Given the description of an element on the screen output the (x, y) to click on. 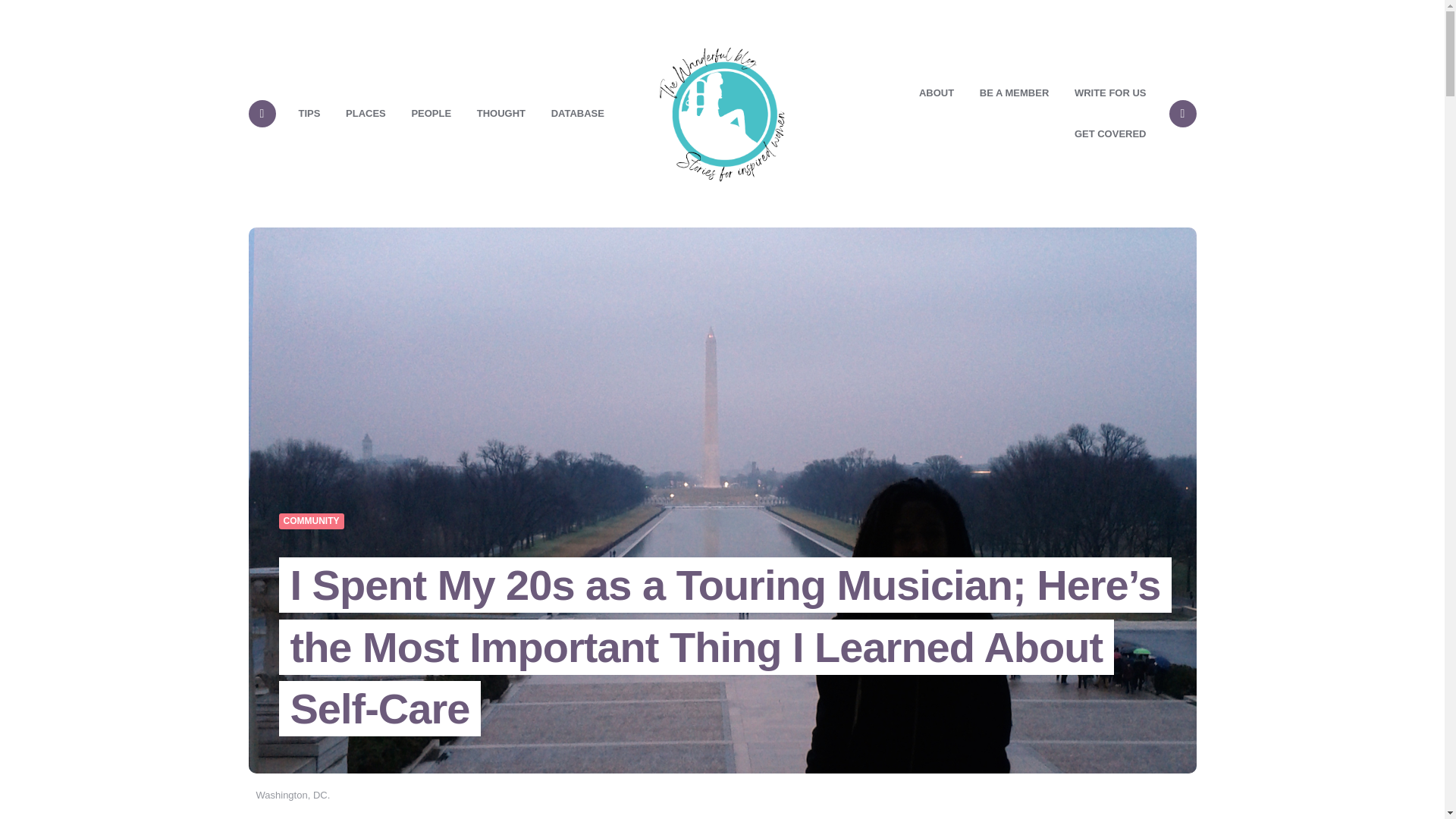
TIPS (308, 113)
DATABASE (577, 113)
COMMUNITY (311, 521)
THOUGHT (501, 113)
GET COVERED (1109, 133)
ABOUT (936, 92)
BE A MEMBER (1013, 92)
PLACES (365, 113)
PEOPLE (430, 113)
WRITE FOR US (1109, 92)
